Given the description of an element on the screen output the (x, y) to click on. 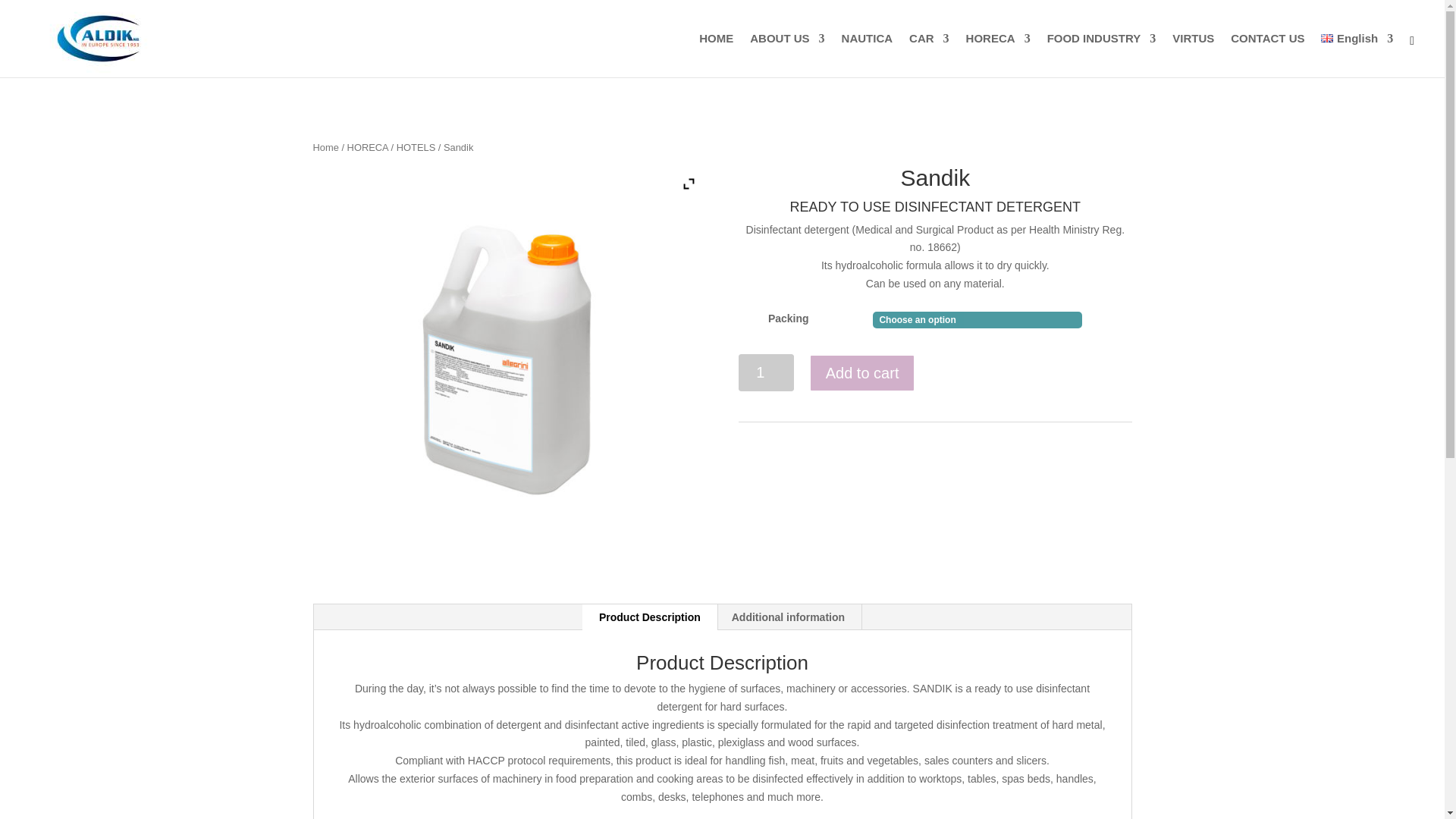
English (1356, 54)
FOOD INDUSTRY (1101, 54)
ABOUT US (786, 54)
Qty (765, 372)
HORECA (998, 54)
VIRTUS (1193, 54)
CAR (928, 54)
CONTACT US (1267, 54)
NAUTICA (867, 54)
